Given the description of an element on the screen output the (x, y) to click on. 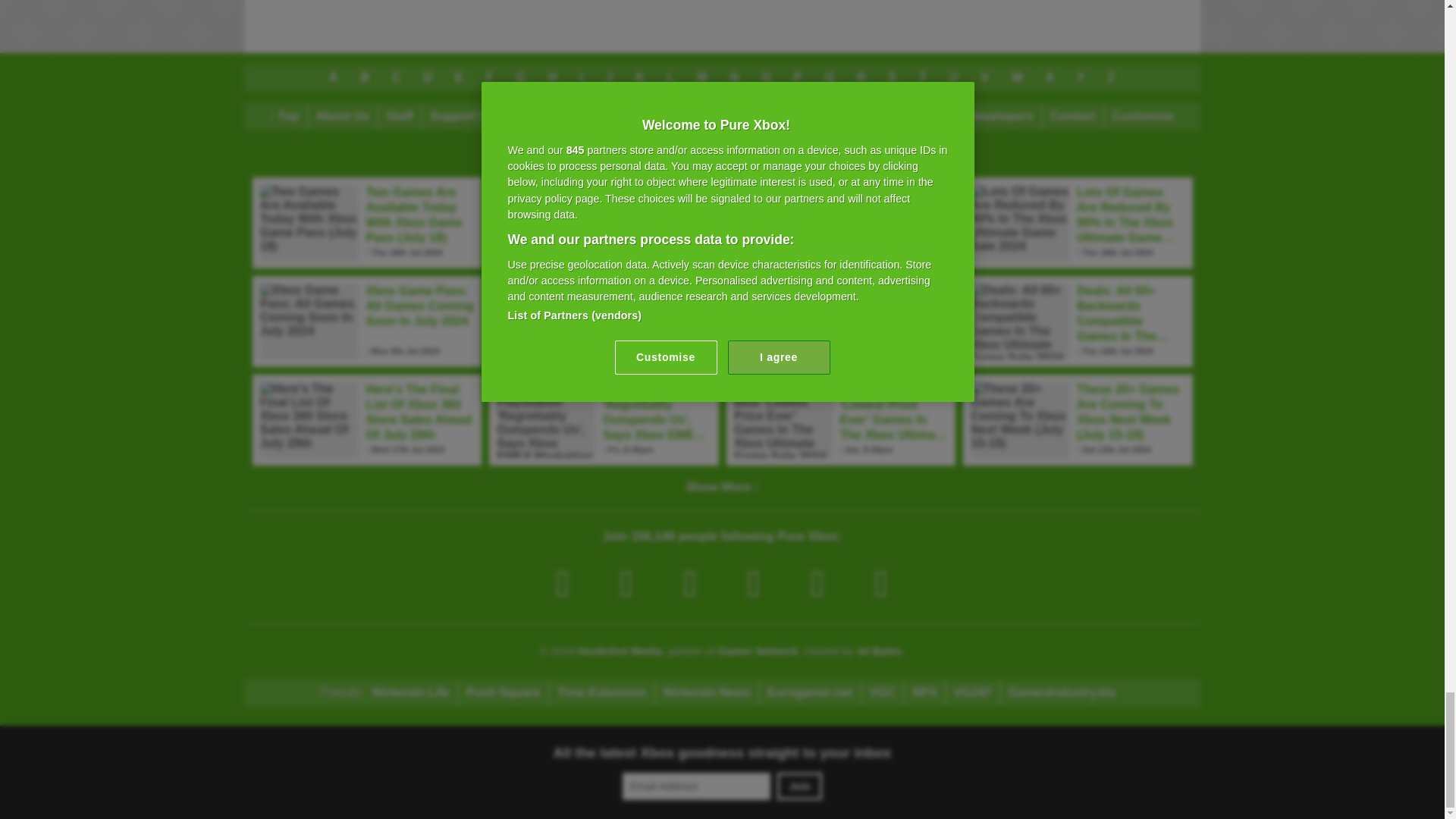
Join (799, 786)
